Given the description of an element on the screen output the (x, y) to click on. 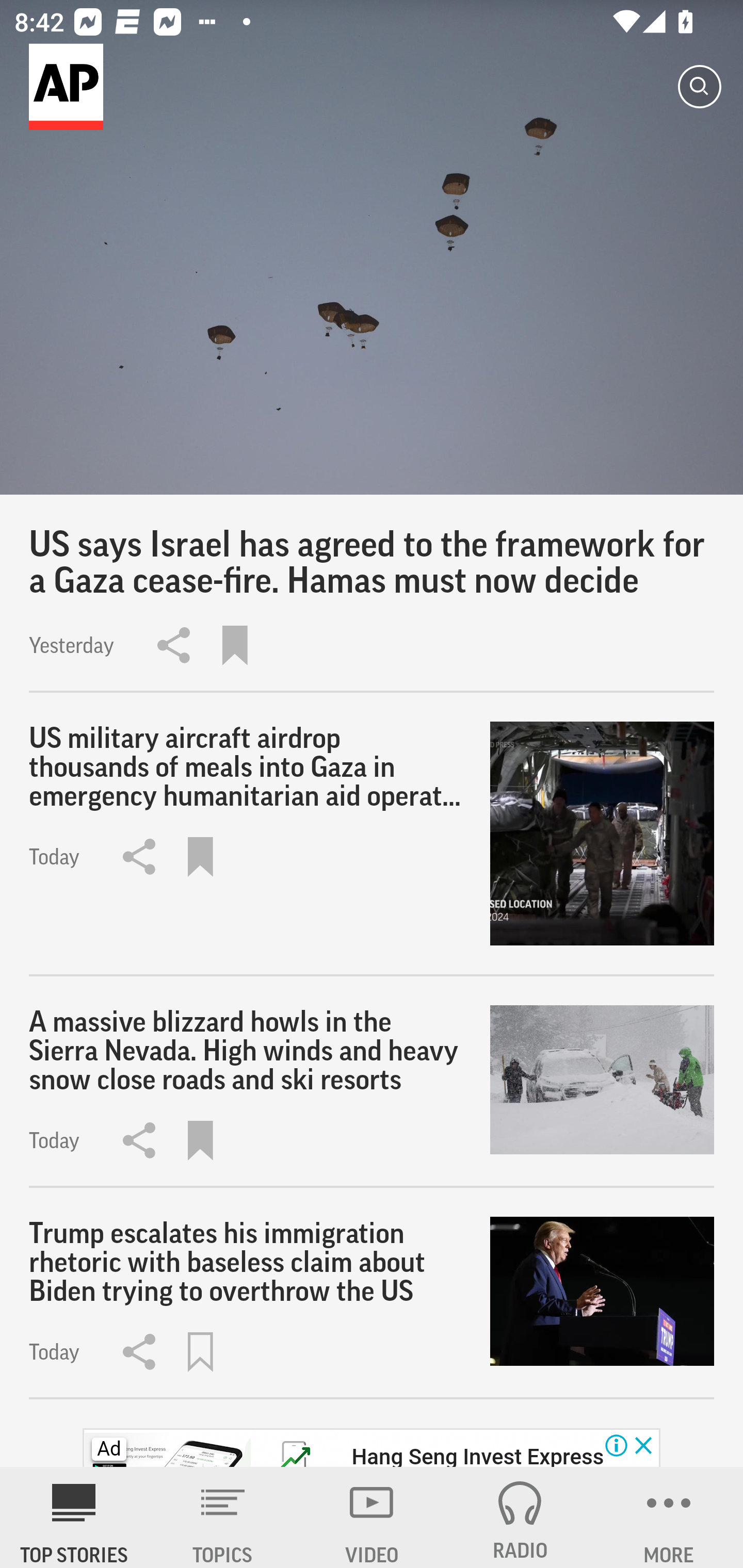
Hang Seng Invest Express (476, 1454)
AP News TOP STORIES (74, 1517)
TOPICS (222, 1517)
VIDEO (371, 1517)
RADIO (519, 1517)
MORE (668, 1517)
